Given the description of an element on the screen output the (x, y) to click on. 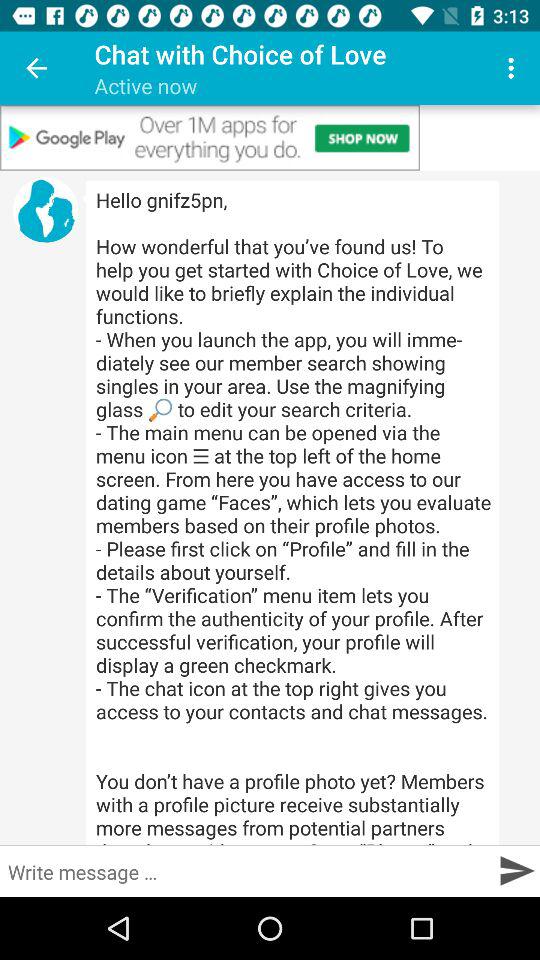
go next (516, 870)
